Given the description of an element on the screen output the (x, y) to click on. 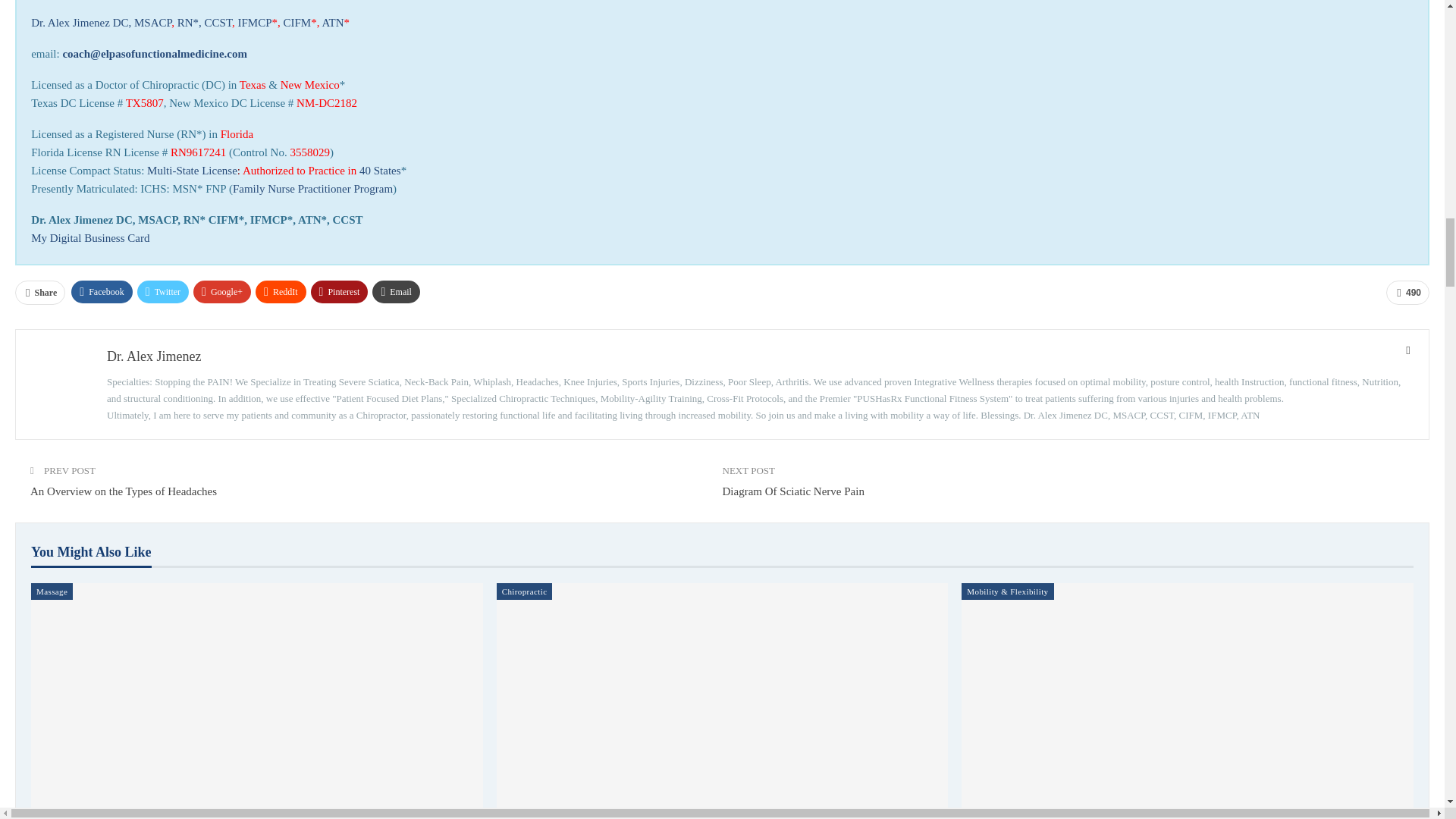
Effective Treatments for Extensor Tendonitis (1186, 701)
Maximize Your Performance with Daily Massage Gun Therapy (256, 701)
Treating Antalgic Gait: Effective Solutions (722, 701)
